Given the description of an element on the screen output the (x, y) to click on. 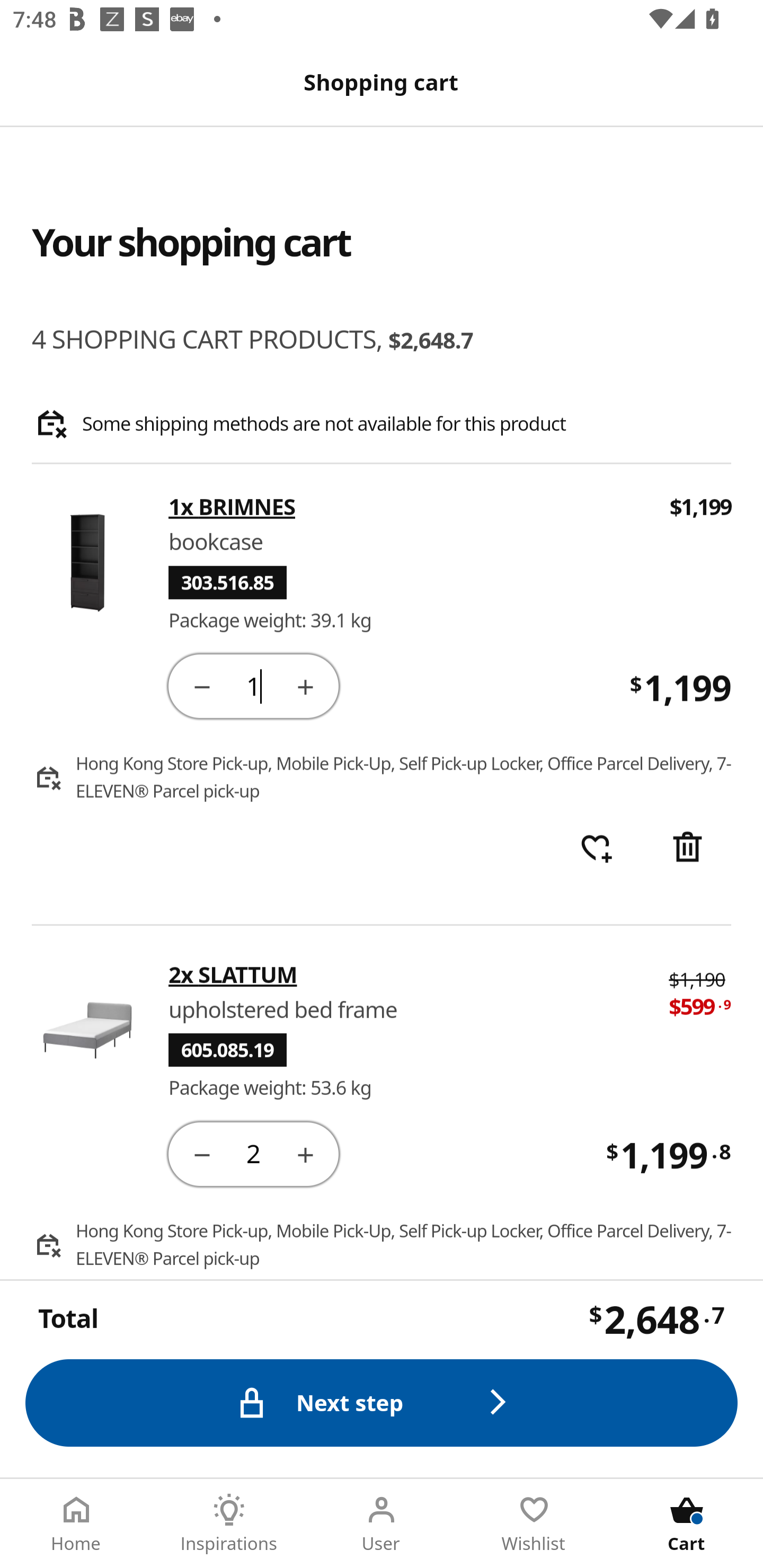
1x  BRIMNES 1x  BRIMNES (406, 507)
1 (253, 685)
 (201, 685)
 (305, 685)
  (595, 848)
 (686, 848)
2x  SLATTUM 2x  SLATTUM (405, 974)
2 (253, 1153)
 (201, 1153)
 (305, 1153)
Home
Tab 1 of 5 (76, 1522)
Inspirations
Tab 2 of 5 (228, 1522)
User
Tab 3 of 5 (381, 1522)
Wishlist
Tab 4 of 5 (533, 1522)
Cart
Tab 5 of 5 (686, 1522)
